Given the description of an element on the screen output the (x, y) to click on. 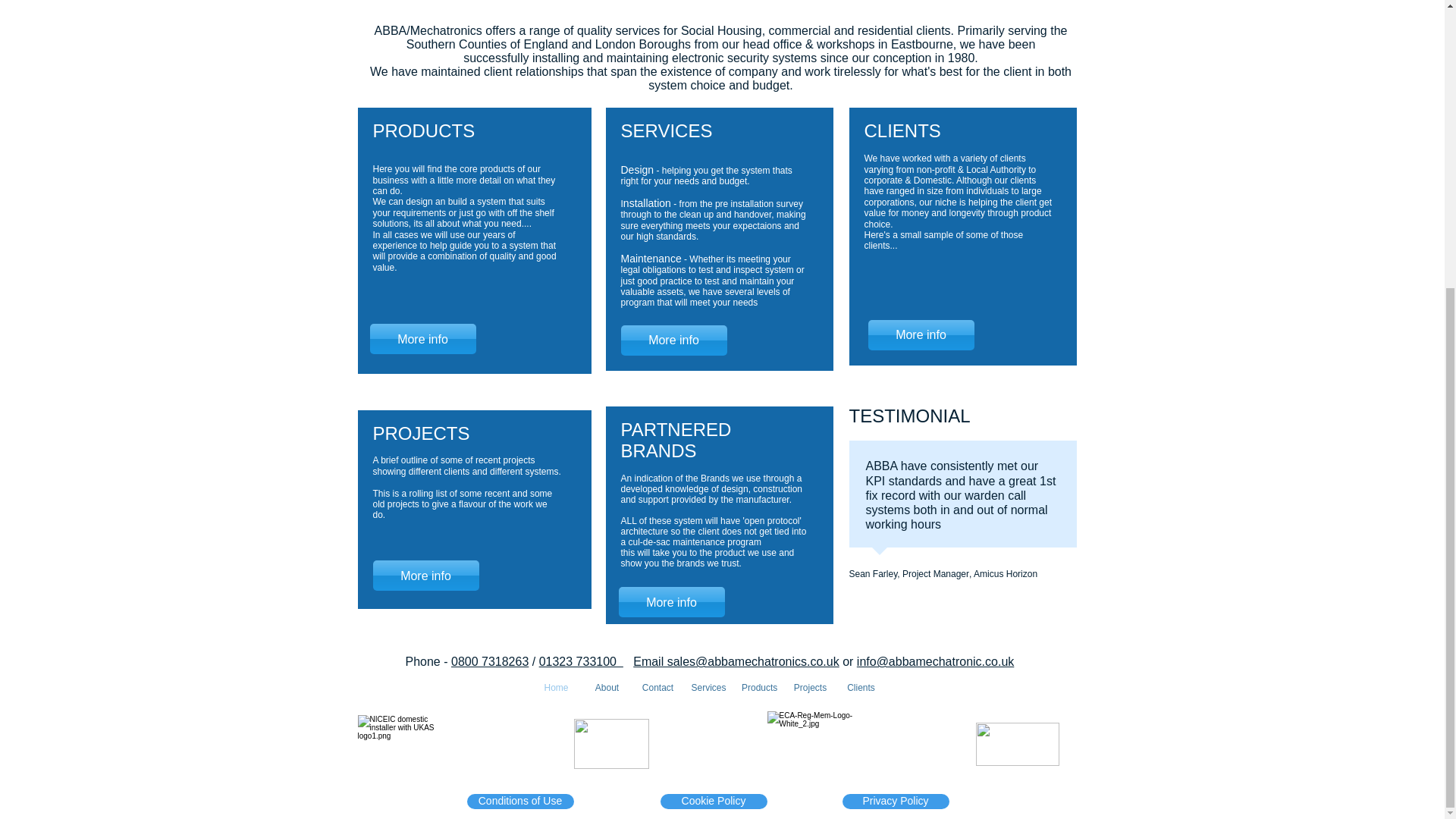
More info (425, 575)
More info (422, 338)
More info (671, 602)
Projects (809, 687)
Contact (656, 687)
Clients (860, 687)
About (605, 687)
Cookie Policy (713, 801)
More info (673, 340)
More info (920, 335)
